Given the description of an element on the screen output the (x, y) to click on. 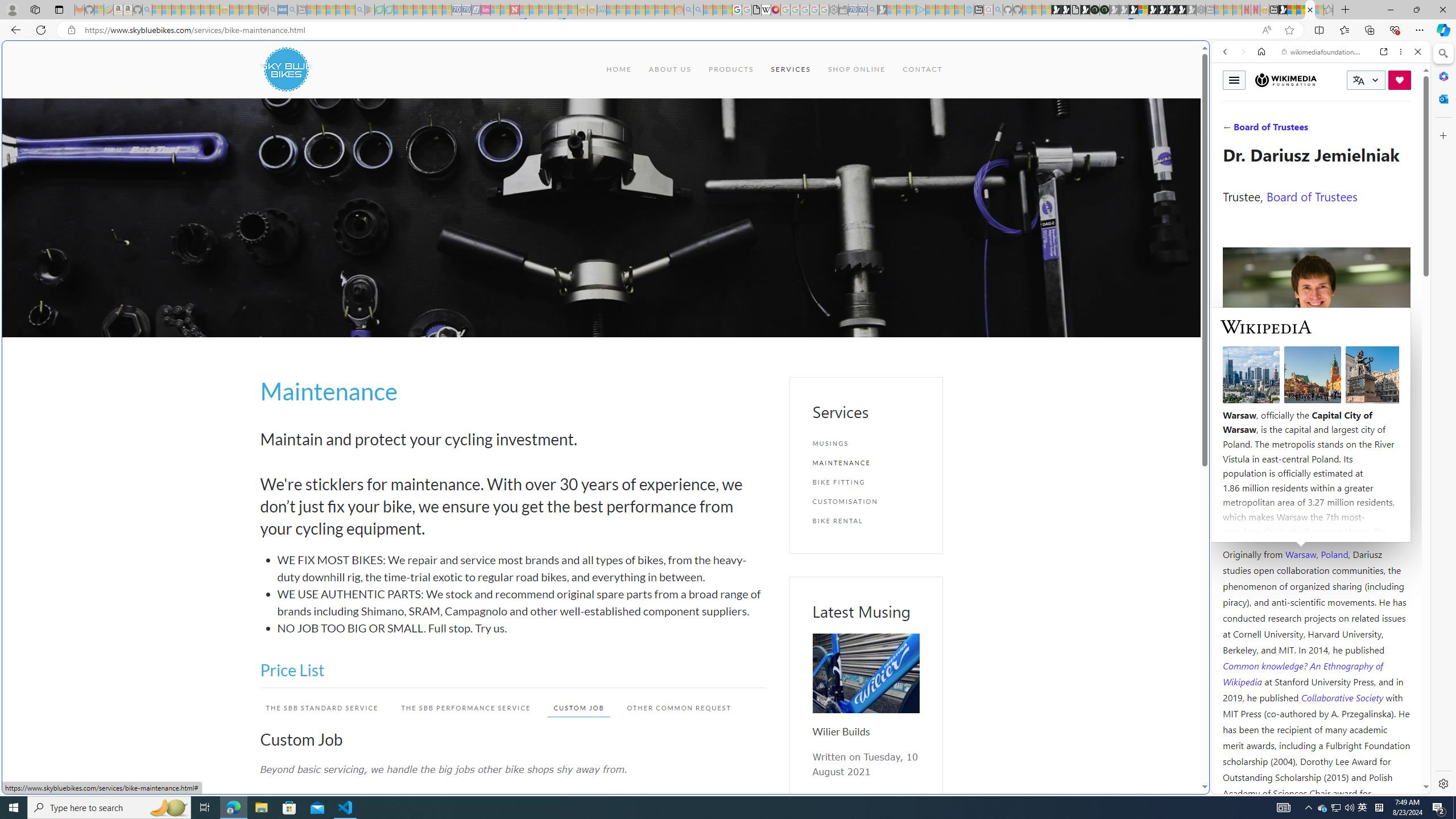
SHOP ONLINE (855, 68)
World - MSN (1291, 9)
